Given the description of an element on the screen output the (x, y) to click on. 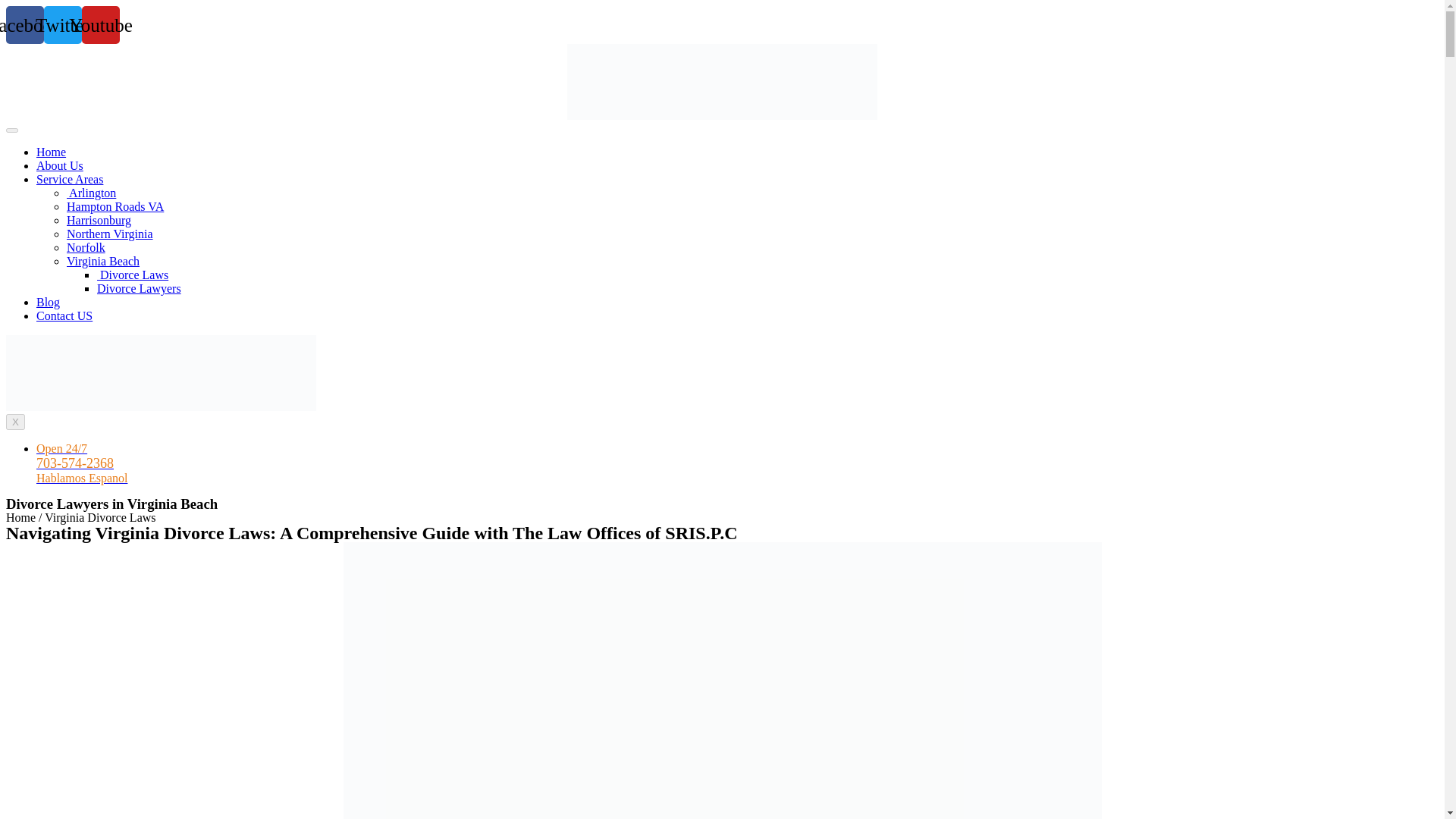
Norfolk (85, 246)
Home (50, 151)
Harrisonburg (98, 219)
Blog (47, 301)
X (14, 421)
Hampton Roads VA (114, 205)
Northern Virginia (109, 233)
Twitter (62, 24)
About Us (59, 164)
Contact US (64, 315)
